Given the description of an element on the screen output the (x, y) to click on. 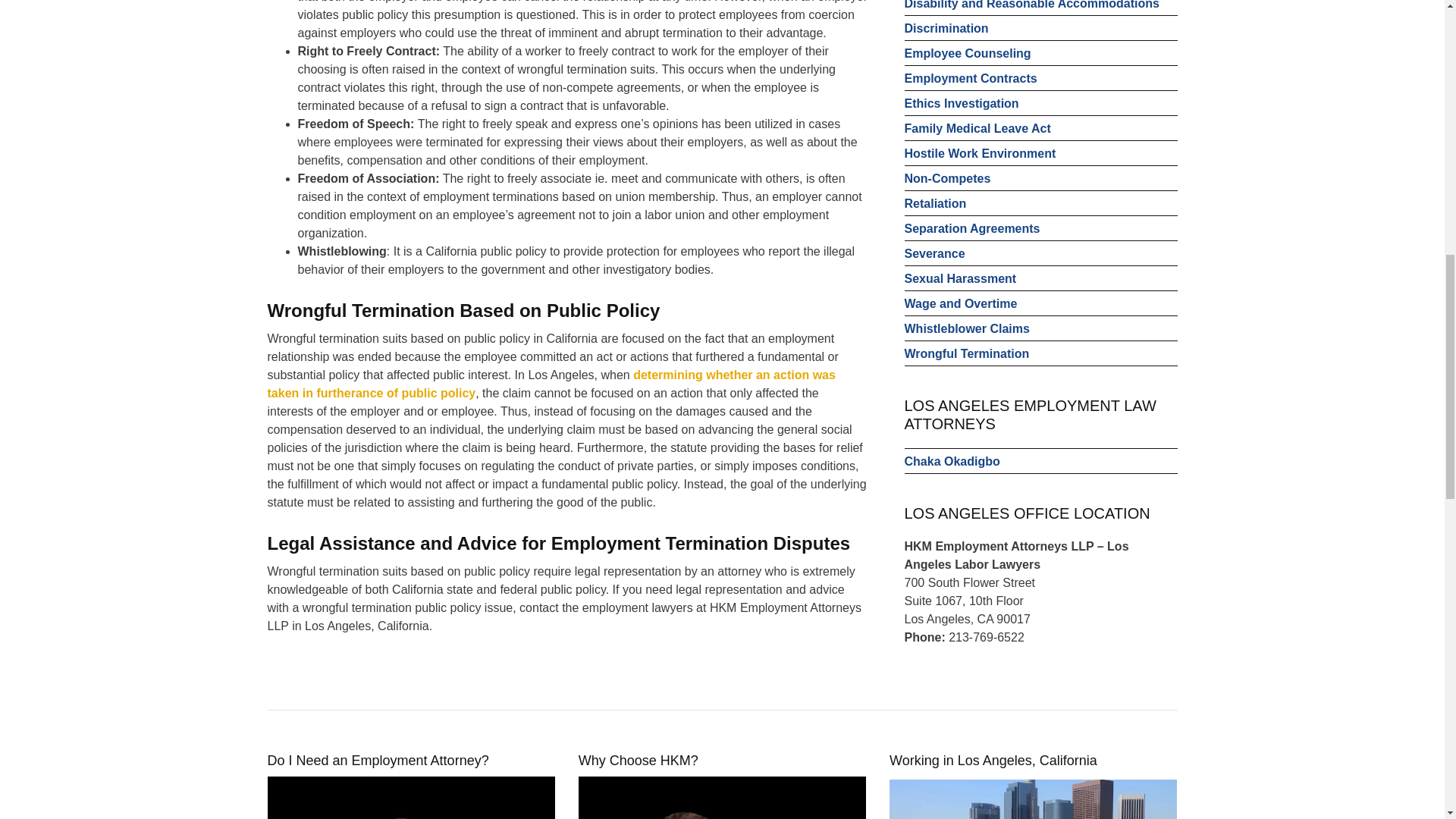
Why Choose HKM Employment Attorneys Video (722, 797)
Do I Need an Employment Attorney Video (410, 797)
